Given the description of an element on the screen output the (x, y) to click on. 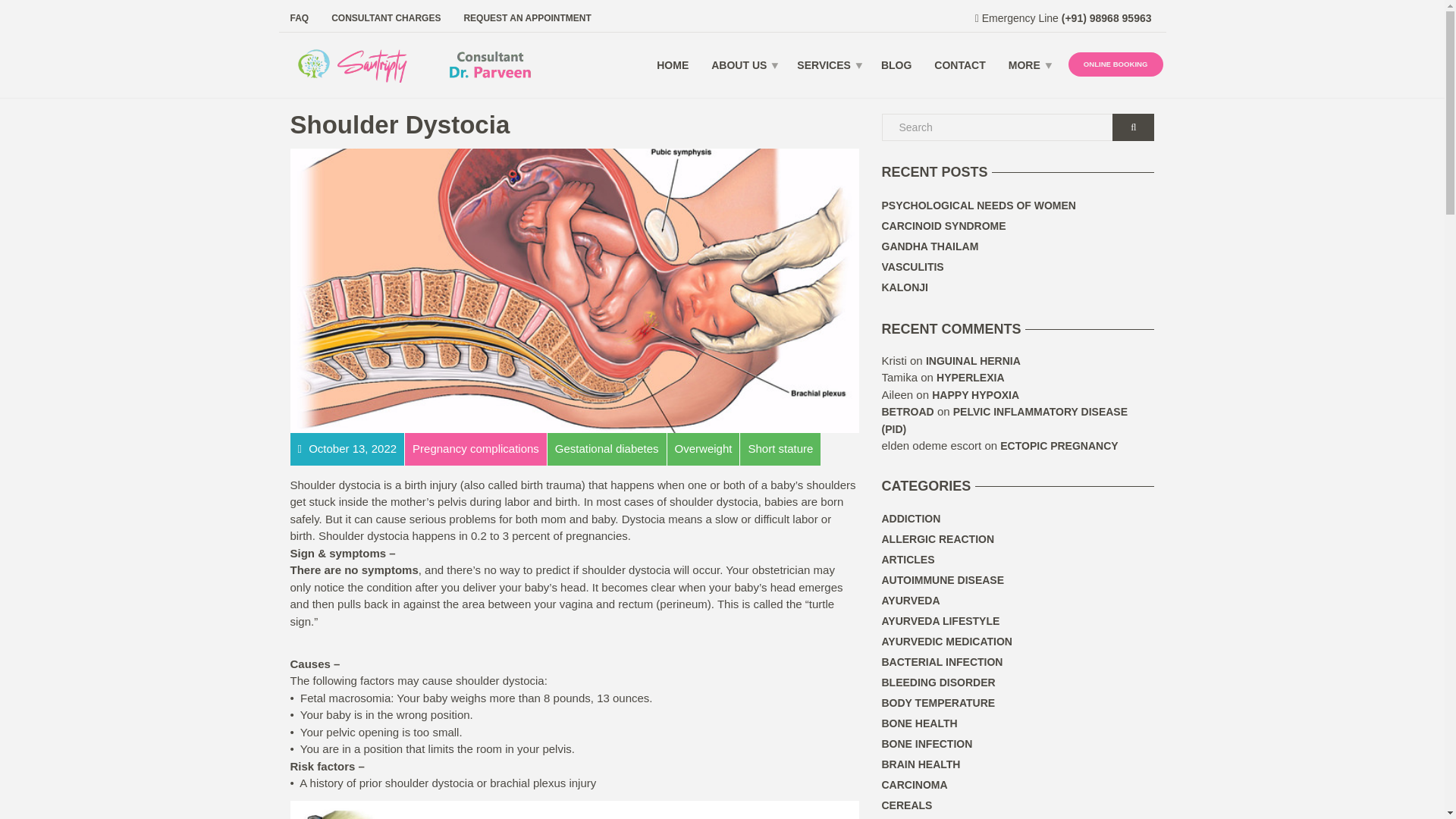
HAPPY HYPOXIA (975, 395)
About Us (743, 64)
PSYCHOLOGICAL NEEDS OF WOMEN (977, 205)
VASCULITIS (911, 267)
FAQ (304, 17)
GANDHA THAILAM (929, 246)
Short stature (780, 448)
Consultant Charges (385, 17)
BETROAD (906, 411)
More (1028, 64)
Blog (896, 64)
KALONJI (903, 287)
ABOUT US (743, 64)
FAQ (304, 17)
SERVICES (827, 64)
